Given the description of an element on the screen output the (x, y) to click on. 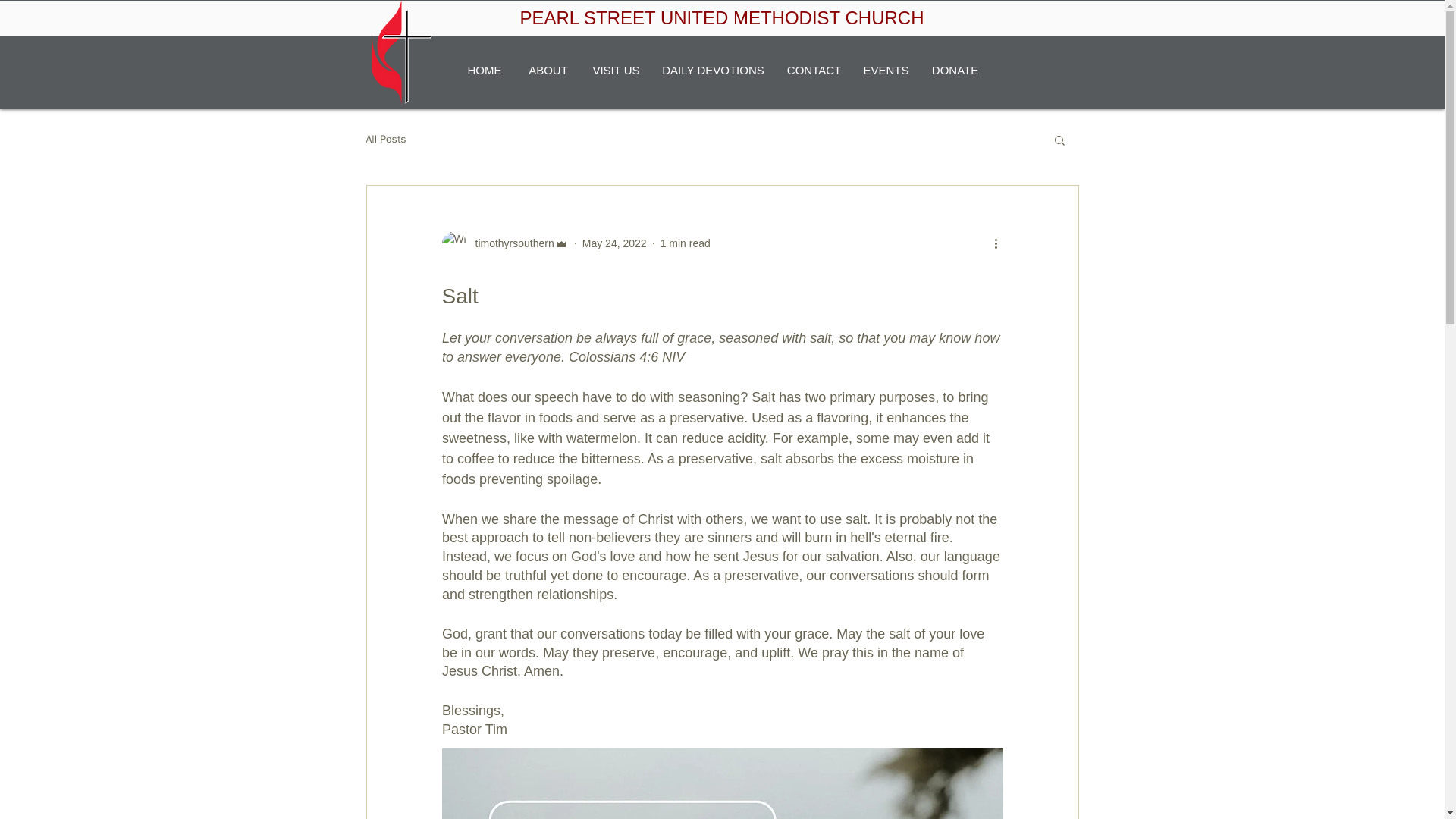
EVENTS (884, 70)
DONATE (954, 70)
1 min read (685, 242)
timothyrsouthern (504, 242)
DAILY DEVOTIONS (712, 70)
All Posts (385, 139)
CONTACT (812, 70)
HOME (483, 70)
timothyrsouthern (509, 242)
May 24, 2022 (614, 242)
VISIT US (615, 70)
